Given the description of an element on the screen output the (x, y) to click on. 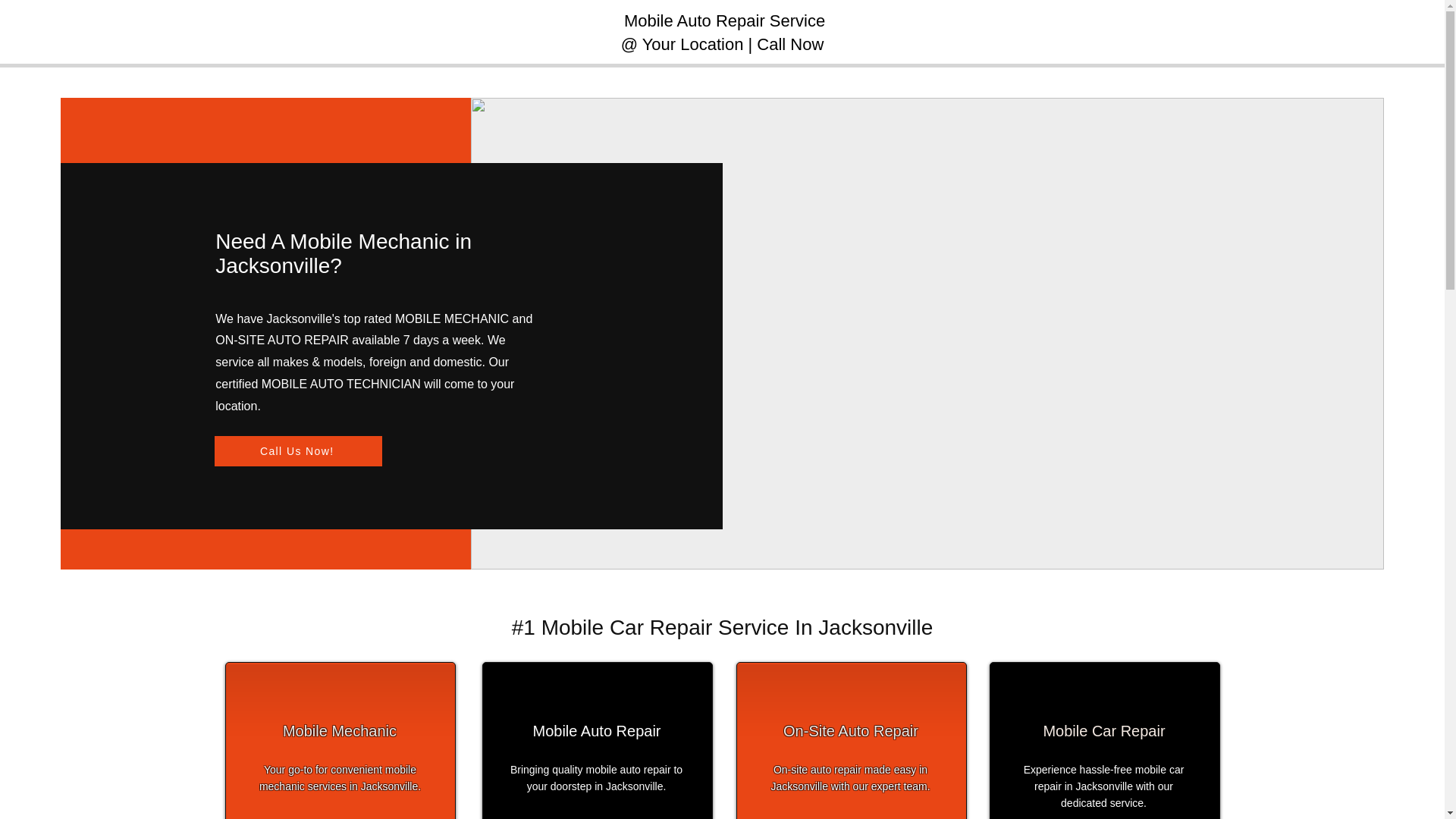
Call Us Now! (297, 450)
